Given the description of an element on the screen output the (x, y) to click on. 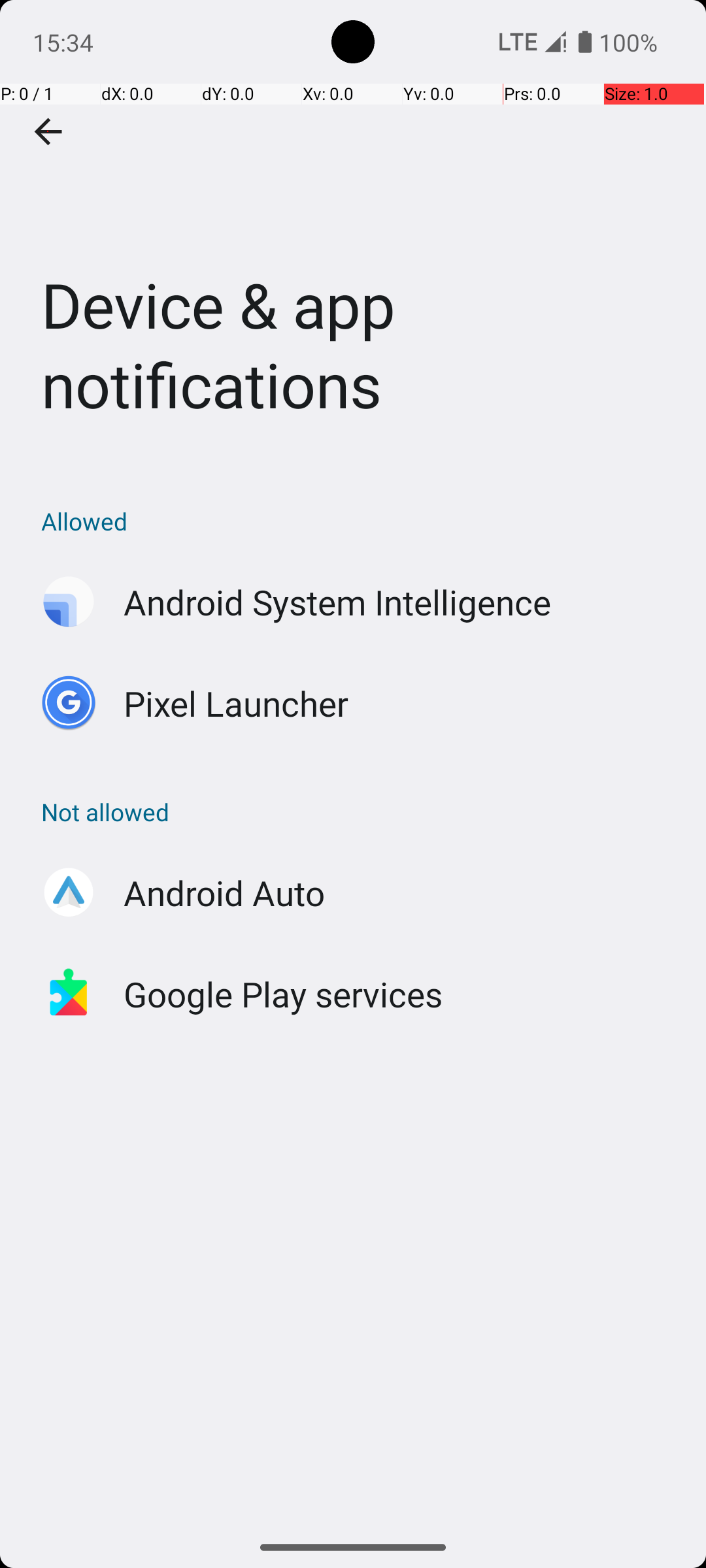
Allowed Element type: android.widget.TextView (359, 520)
Android System Intelligence Element type: android.widget.TextView (337, 601)
Not allowed Element type: android.widget.TextView (359, 811)
